Given the description of an element on the screen output the (x, y) to click on. 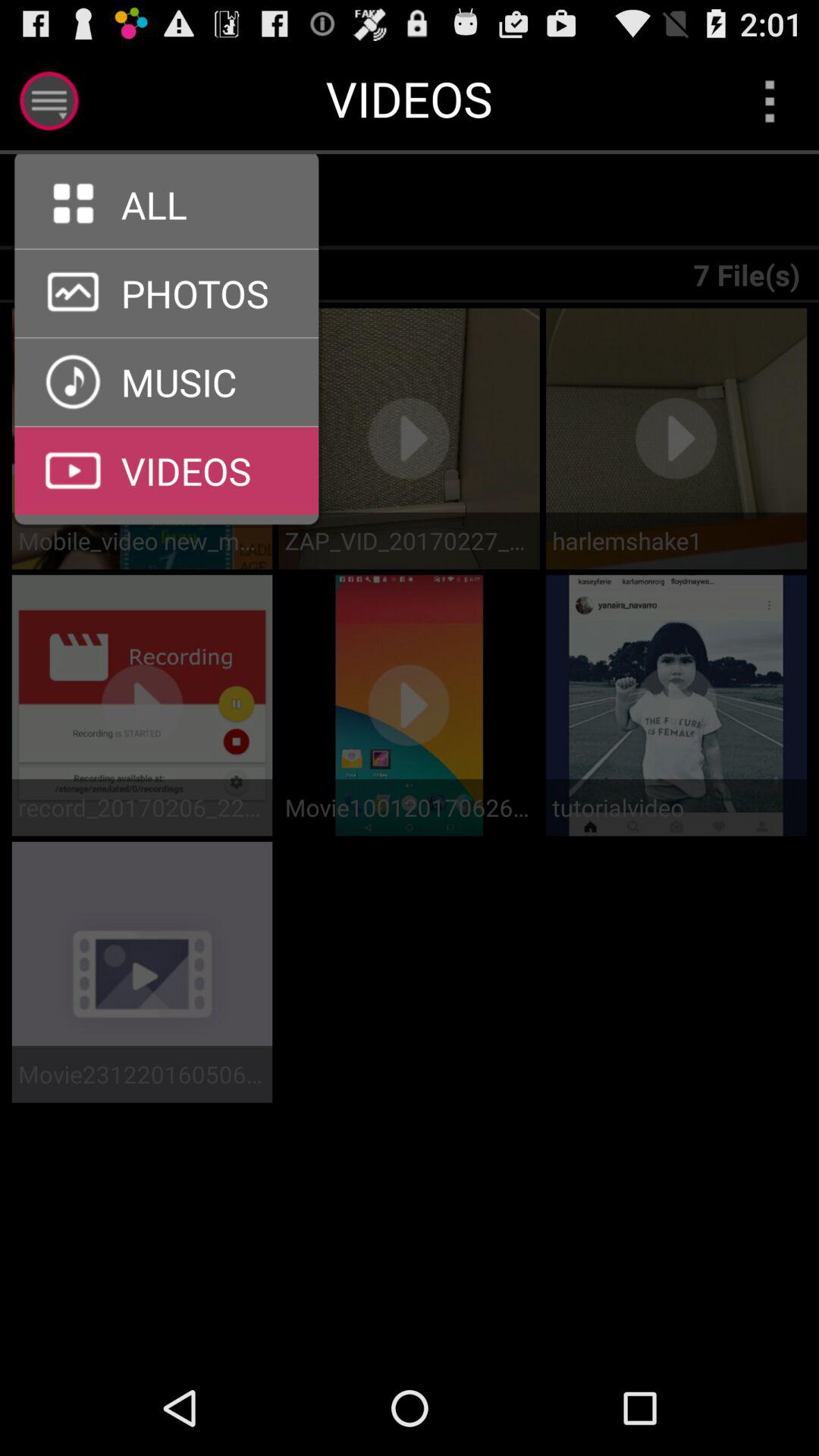
open menu (769, 100)
